Given the description of an element on the screen output the (x, y) to click on. 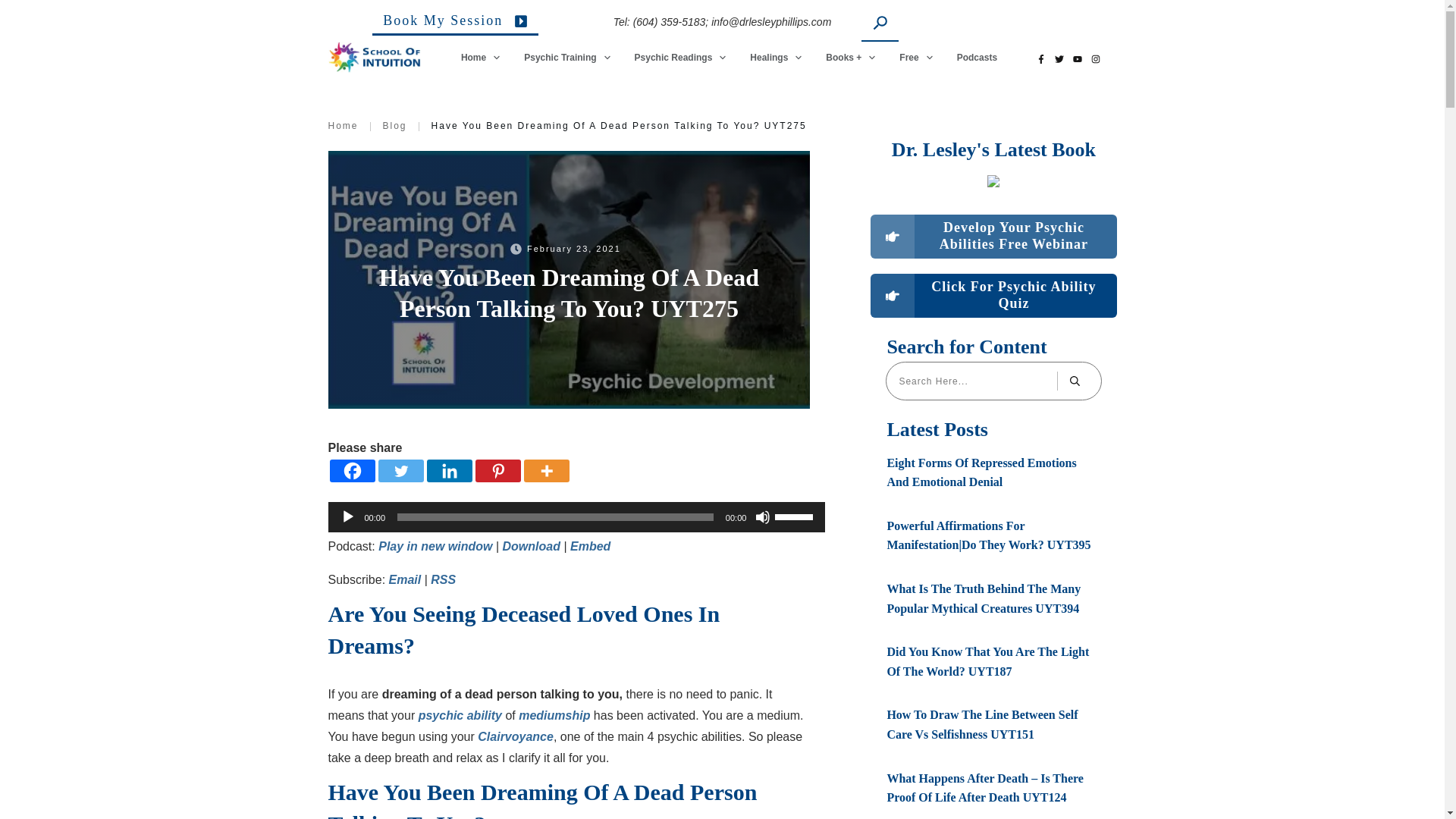
Book My Session (455, 24)
Psychic Readings (681, 57)
Free (916, 57)
Subscribe by Email (405, 579)
Play (347, 516)
Twitter (400, 470)
Mute (762, 516)
Download (530, 545)
Embed (590, 545)
Linkedin (448, 470)
Podcasts (976, 57)
Facebook (351, 470)
Psychic Training (567, 57)
Home (480, 57)
Pinterest (496, 470)
